Given the description of an element on the screen output the (x, y) to click on. 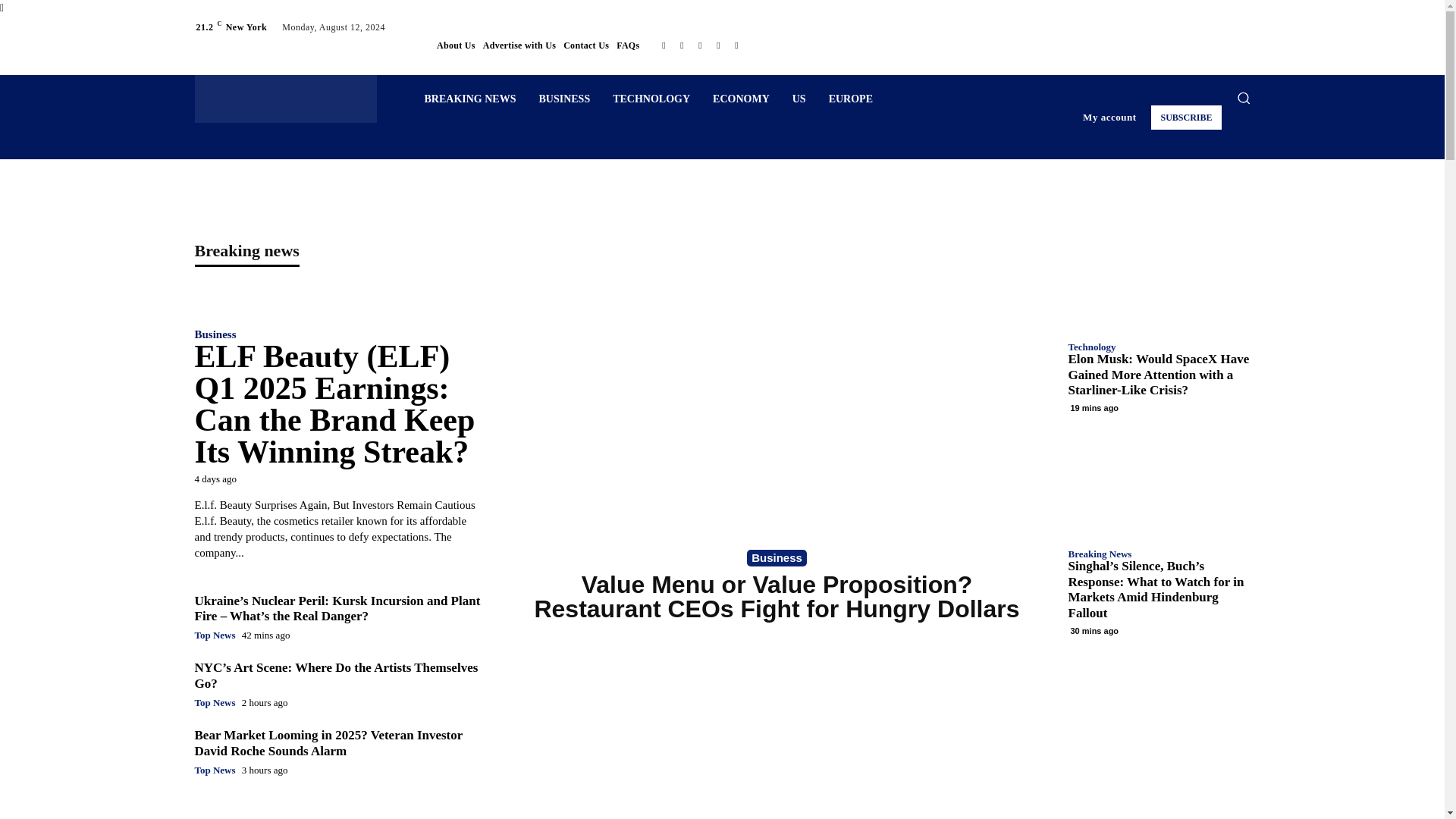
Advertise with Us (519, 45)
Twitter (717, 45)
EUROPE (849, 99)
SUBSCRIBE (1186, 116)
Medium (681, 45)
BUSINESS (564, 99)
BREAKING NEWS (469, 99)
Contact Us (585, 45)
ECONOMY (740, 99)
Website (735, 45)
